Given the description of an element on the screen output the (x, y) to click on. 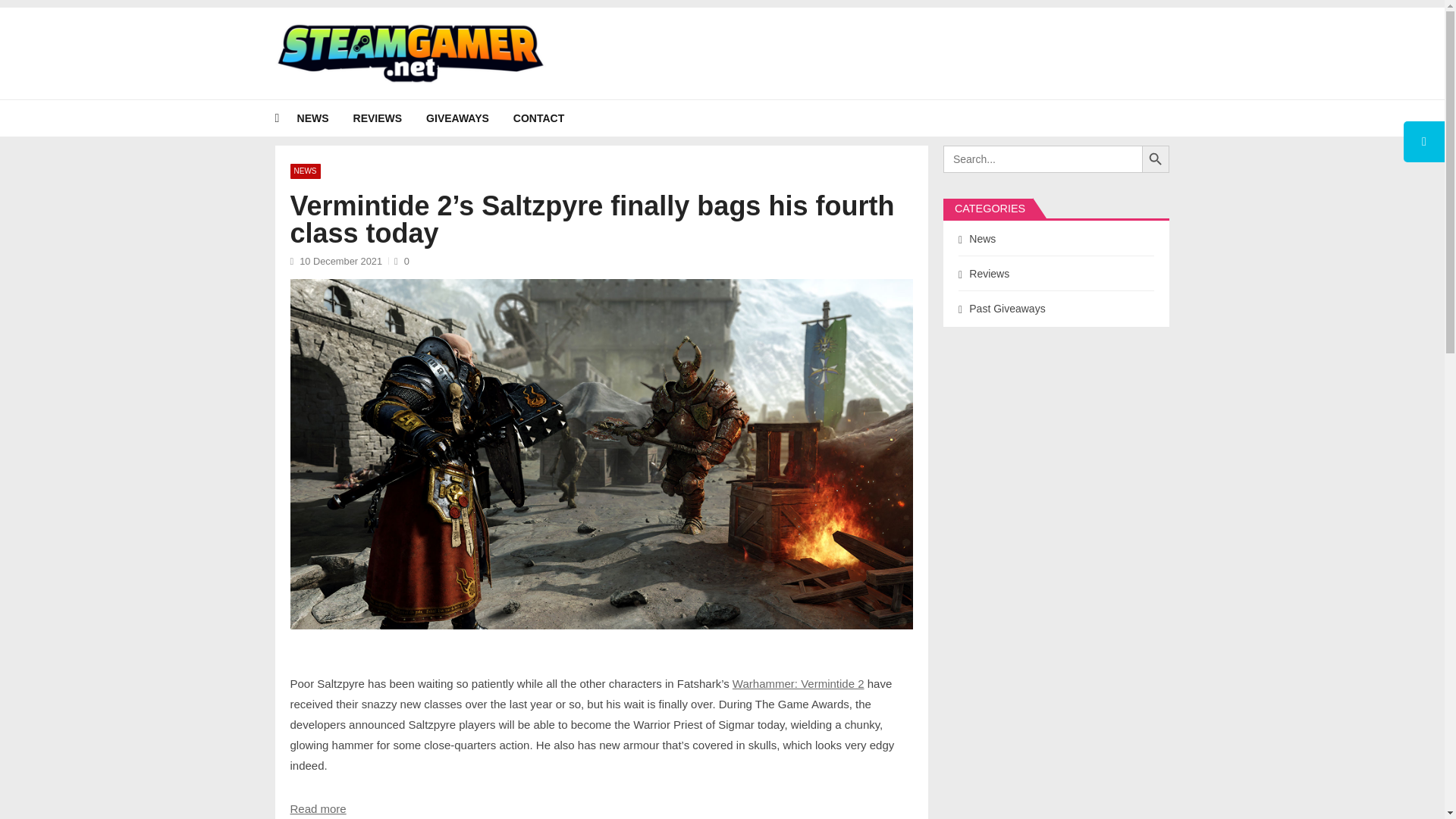
NEWS (325, 117)
CONTACT (550, 117)
Steam Gamer (326, 92)
Read more (317, 808)
News (325, 117)
NEWS (304, 171)
GIVEAWAYS (469, 117)
REVIEWS (389, 117)
Warhammer: Vermintide 2 (798, 683)
